Given the description of an element on the screen output the (x, y) to click on. 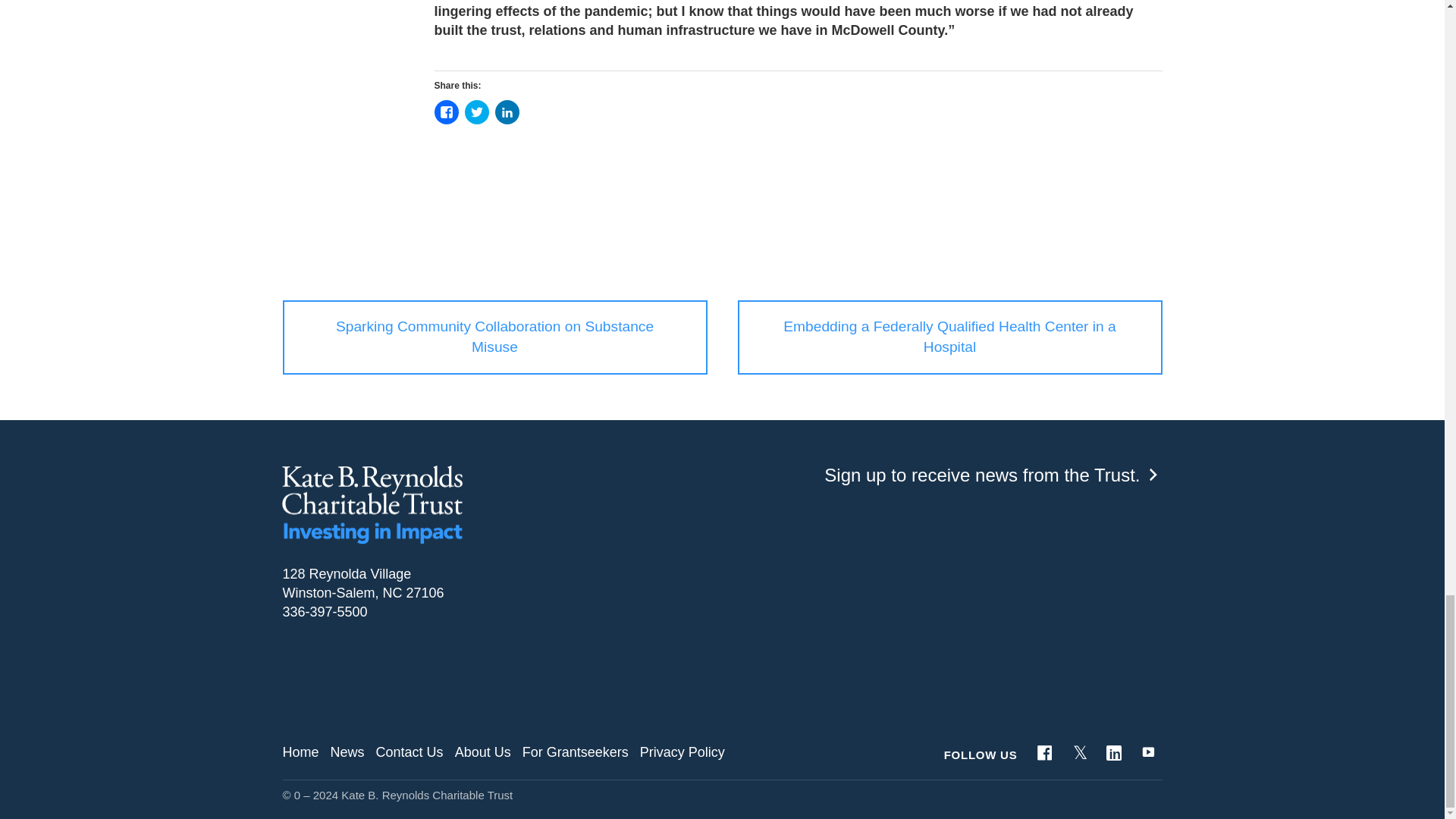
Click to share on Twitter (475, 111)
Click to share on Facebook (445, 111)
Click to share on LinkedIn (506, 111)
